Given the description of an element on the screen output the (x, y) to click on. 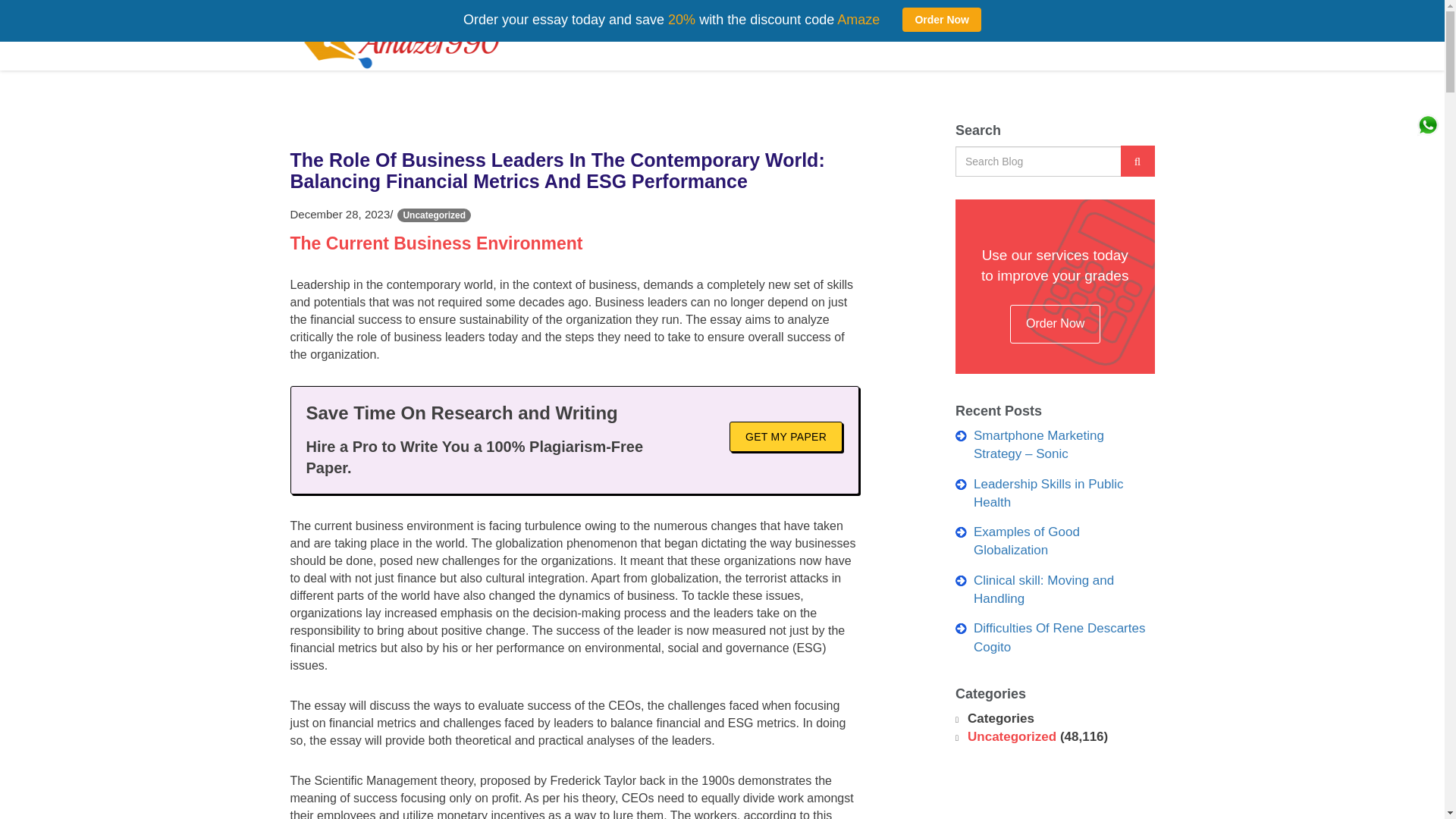
Uncategorized (1012, 736)
Order Now (941, 19)
Leadership Skills in Public Health (1049, 492)
Order Now (1055, 323)
Clinical skill: Moving and Handling (1043, 589)
GET MY PAPER (786, 436)
Difficulties Of Rene Descartes Cogito (1059, 636)
Uncategorized (433, 214)
Examples of Good Globalization (1027, 540)
